Given the description of an element on the screen output the (x, y) to click on. 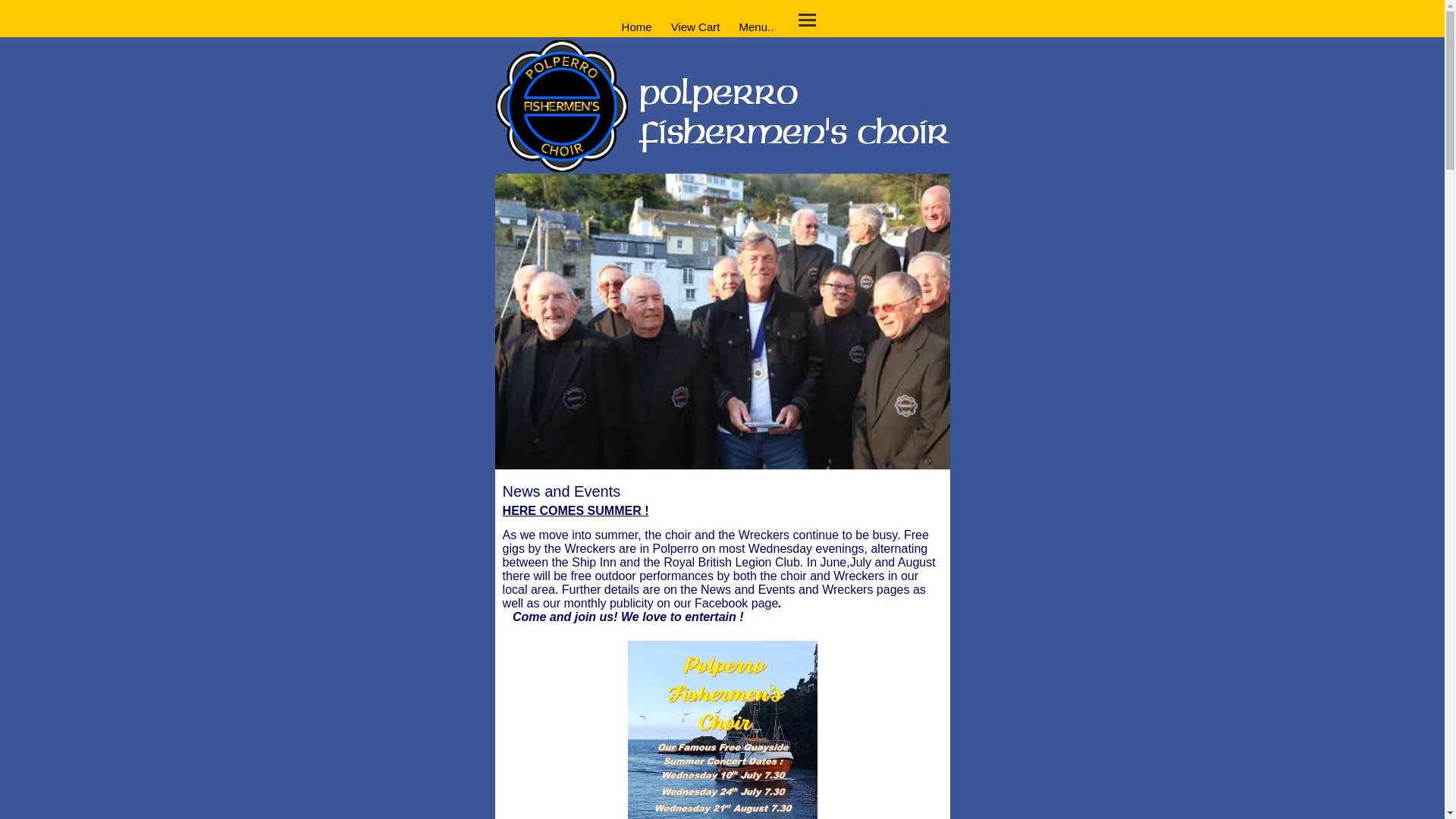
Menu.. (755, 24)
Home (635, 24)
View Cart (694, 24)
